Given the description of an element on the screen output the (x, y) to click on. 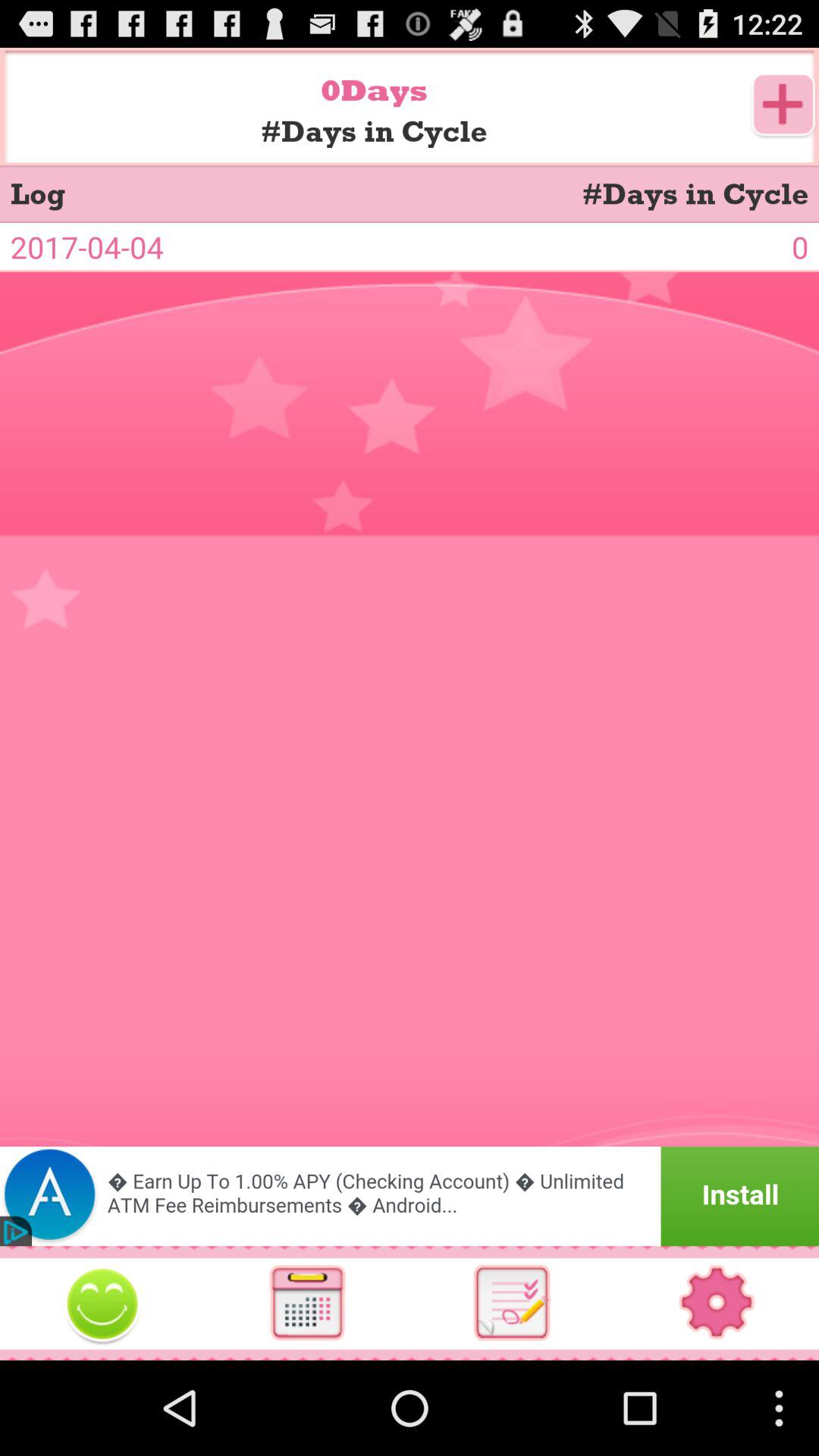
settings app (716, 1302)
